Given the description of an element on the screen output the (x, y) to click on. 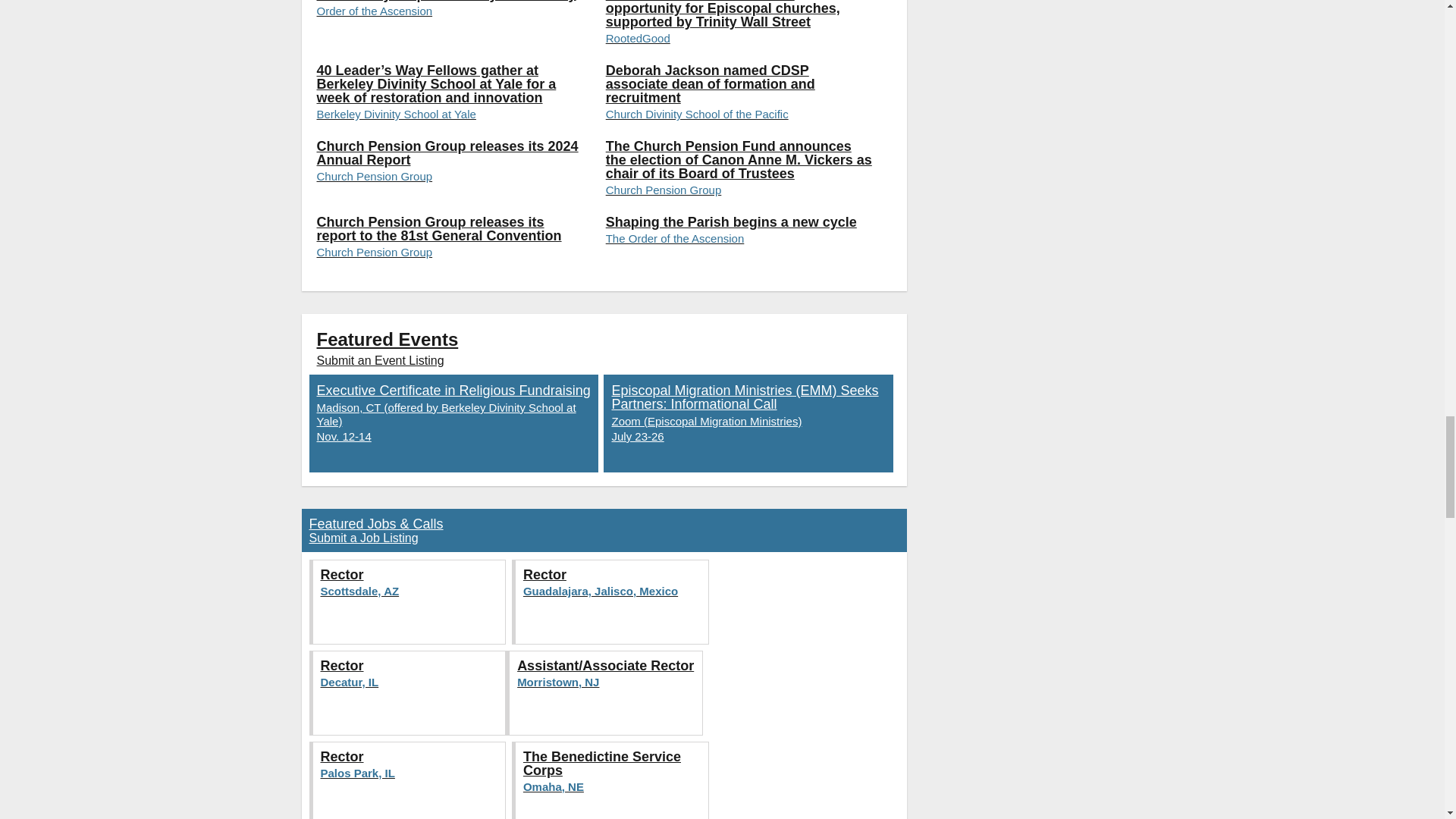
Revitalize your parish and your ministry (450, 28)
Executive Certificate in Religious Fundraising (453, 423)
Featured Events (387, 339)
Shaping the Parish begins a new cycle (739, 245)
Church Pension Group releases its 2024 Annual Report (450, 169)
